Given the description of an element on the screen output the (x, y) to click on. 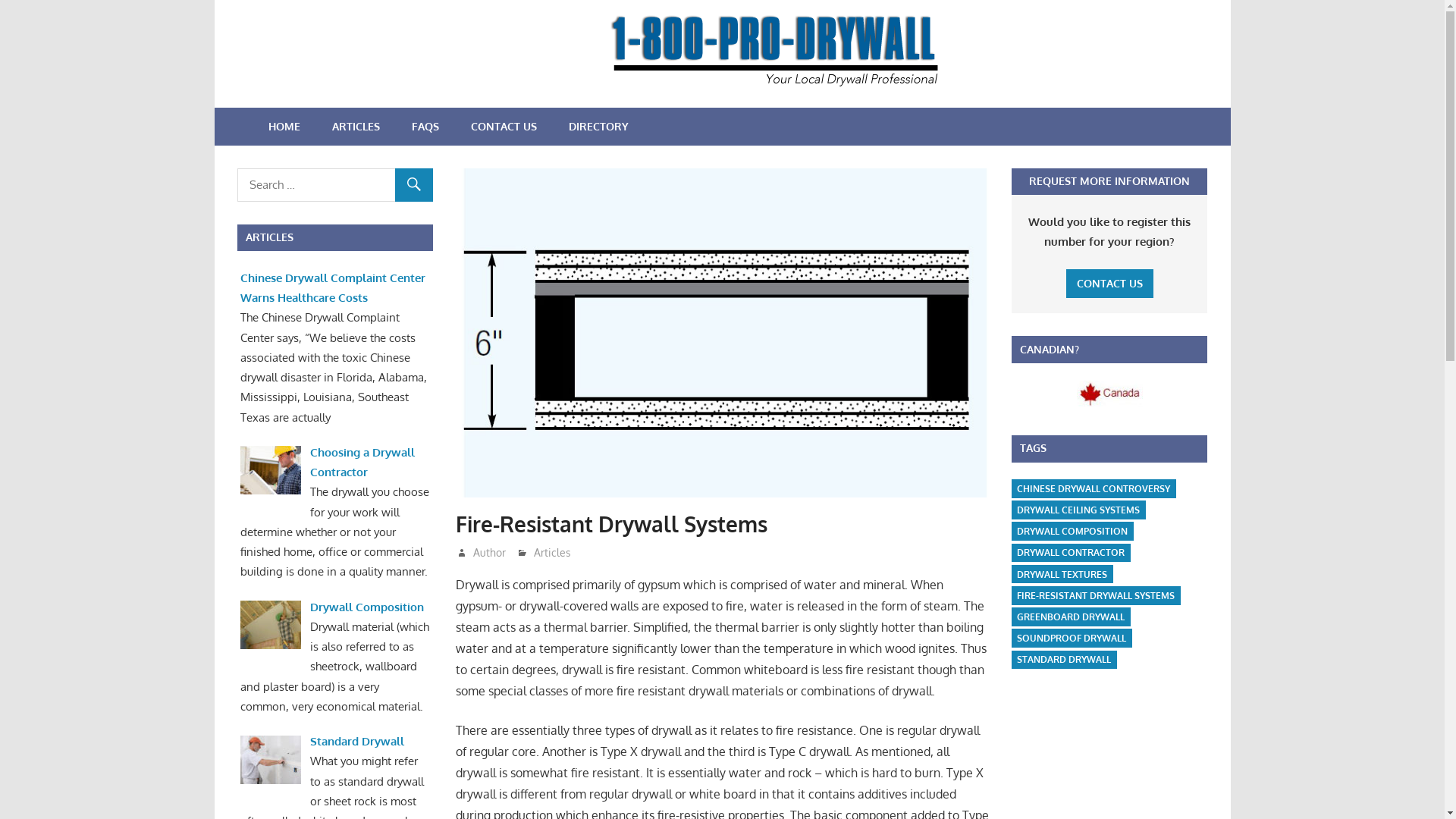
Choosing a Drywall Contractor Element type: text (362, 462)
Drywall Composition Element type: text (366, 606)
Standard Drywall Element type: text (357, 741)
Articles Element type: text (552, 552)
Author Element type: text (489, 552)
DRYWALL TEXTURES Element type: text (1061, 573)
FIRE-RESISTANT DRYWALL SYSTEMS Element type: text (1095, 595)
STANDARD DRYWALL Element type: text (1063, 659)
Search for: Element type: hover (334, 184)
SOUNDPROOF DRYWALL Element type: text (1071, 637)
ARTICLES Element type: text (355, 126)
CHINESE DRYWALL CONTROVERSY Element type: text (1093, 488)
CONTACT US Element type: text (503, 126)
DRYWALL CONTRACTOR Element type: text (1070, 552)
FAQS Element type: text (425, 126)
DRYWALL CEILING SYSTEMS Element type: text (1078, 509)
CONTACT US Element type: text (1109, 283)
March 2, 2011 Element type: text (501, 552)
Chinese Drywall Complaint Center Warns Healthcare Costs Element type: text (332, 287)
HOME Element type: text (283, 126)
GREENBOARD DRYWALL Element type: text (1070, 616)
DRYWALL COMPOSITION Element type: text (1071, 530)
DIRECTORY Element type: text (597, 126)
CONTACT US Element type: text (1109, 283)
